Given the description of an element on the screen output the (x, y) to click on. 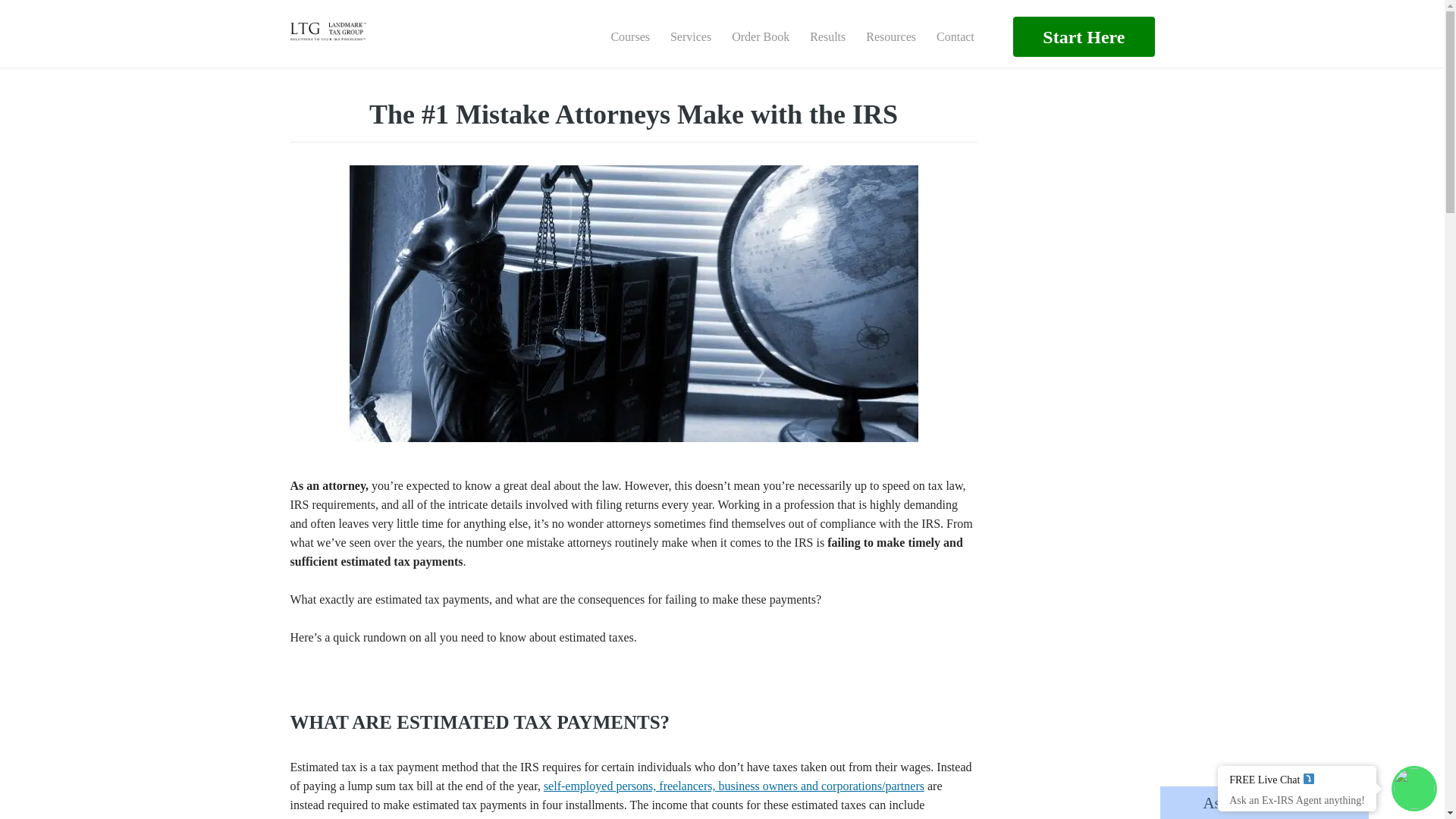
Services (689, 36)
Contact (955, 36)
Courses (629, 36)
Order Book (760, 36)
Resources (890, 36)
Results (827, 36)
Start Here (1083, 36)
